Given the description of an element on the screen output the (x, y) to click on. 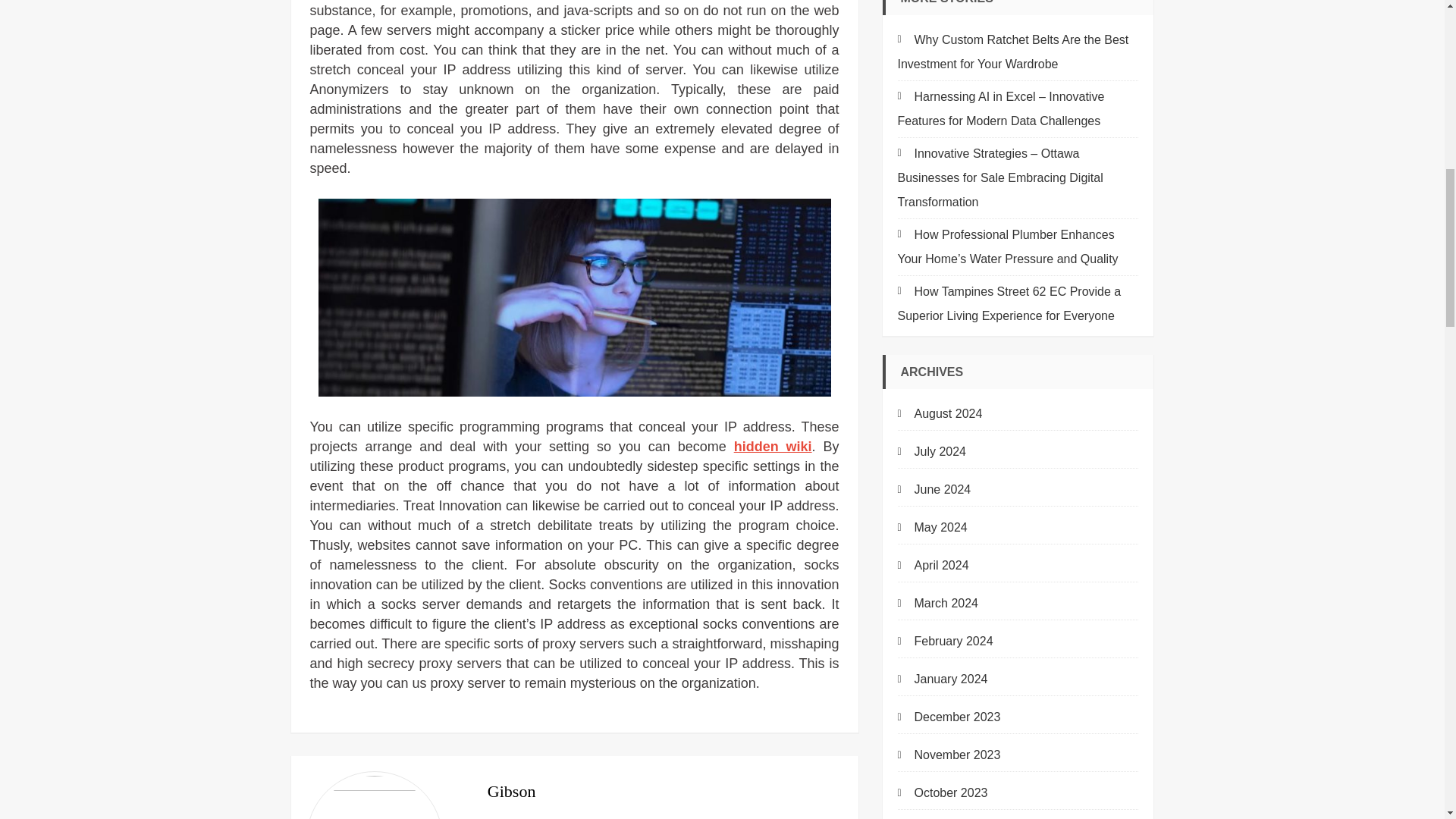
April 2024 (933, 565)
June 2024 (934, 489)
January 2024 (943, 679)
May 2024 (933, 527)
October 2023 (943, 793)
March 2024 (938, 603)
December 2023 (949, 717)
July 2024 (932, 451)
